Given the description of an element on the screen output the (x, y) to click on. 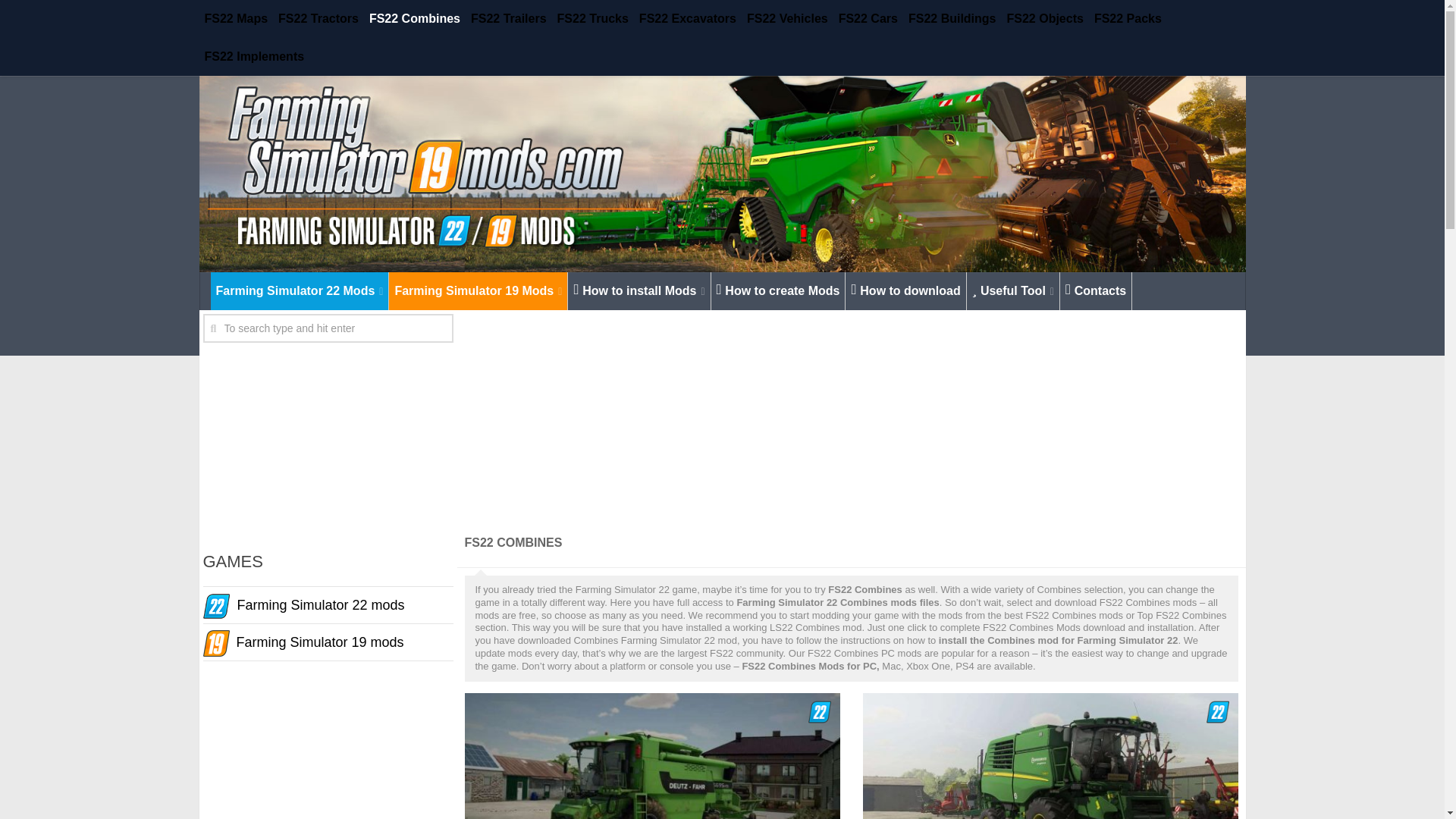
FS22 Deutz Fahr 5695 HTS v1.0.0.0 (652, 755)
FS22 John Deere T-Series PD Luc Edit v1.1.0.0 (1051, 755)
To search type and hit enter (327, 328)
To search type and hit enter (327, 328)
